Given the description of an element on the screen output the (x, y) to click on. 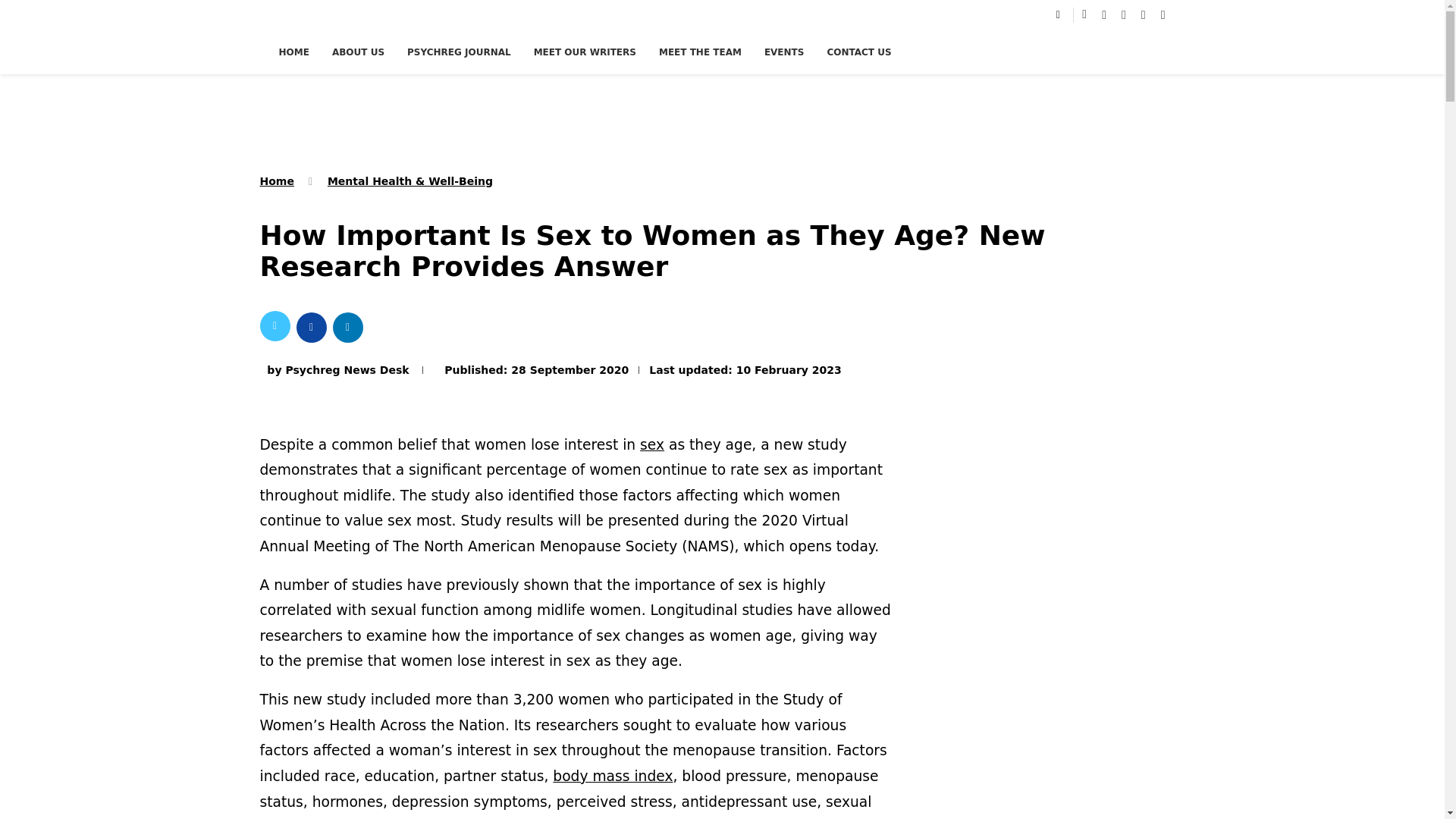
ABOUT US (357, 52)
PSYCHREG JOURNAL (459, 52)
EVENTS (784, 52)
CONTACT US (859, 52)
MEET OUR WRITERS (585, 52)
MEET THE TEAM (700, 52)
